Given the description of an element on the screen output the (x, y) to click on. 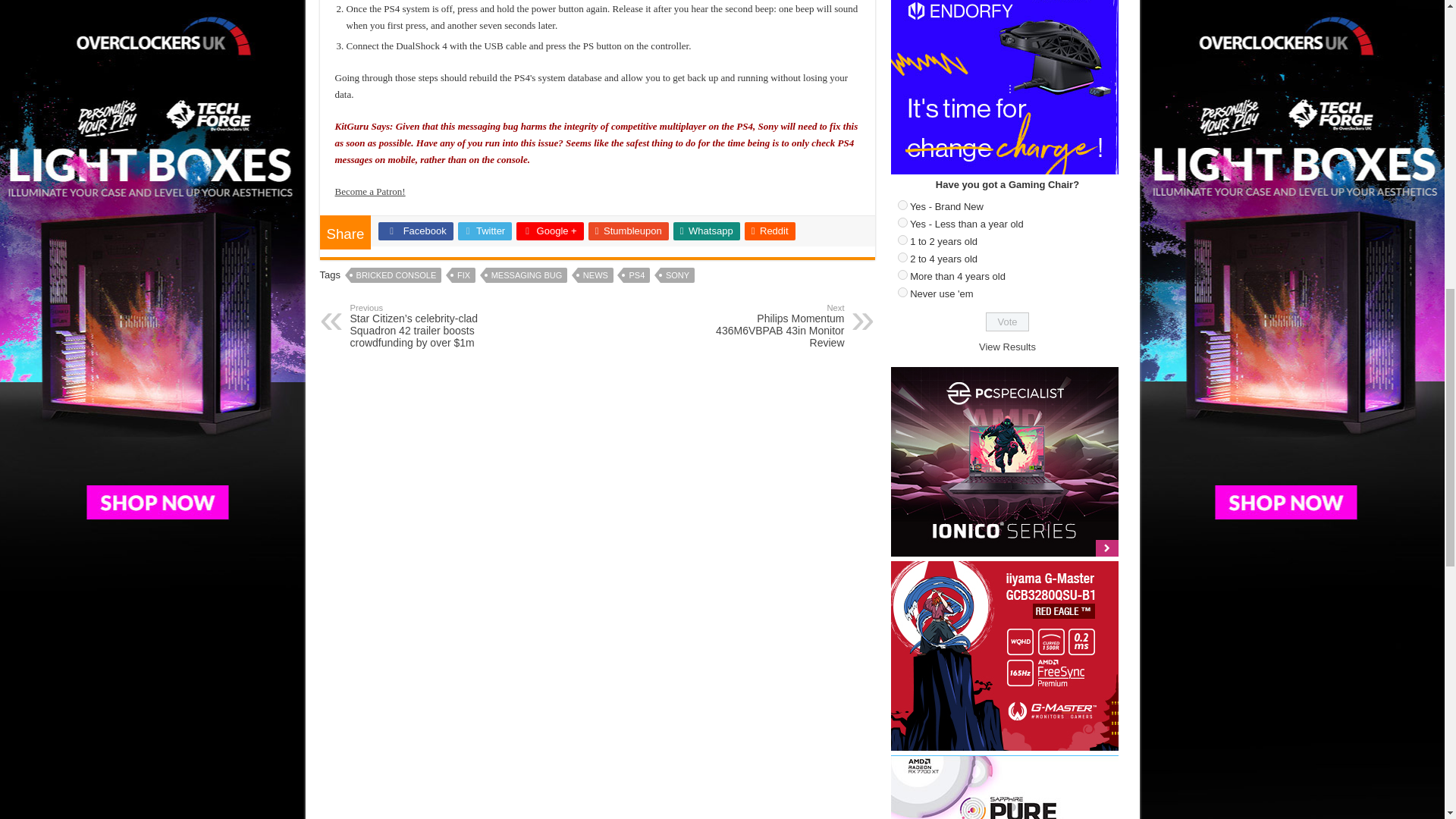
Whatsapp (705, 230)
Stumbleupon (628, 230)
1373 (902, 204)
   Vote    (1007, 321)
1376 (902, 257)
Become a Patron! (370, 191)
Twitter (485, 230)
1377 (902, 275)
1375 (902, 239)
View Results Of This Poll (1006, 346)
Reddit (769, 230)
Facebook (415, 230)
FIX (463, 274)
1378 (902, 292)
1374 (902, 222)
